Given the description of an element on the screen output the (x, y) to click on. 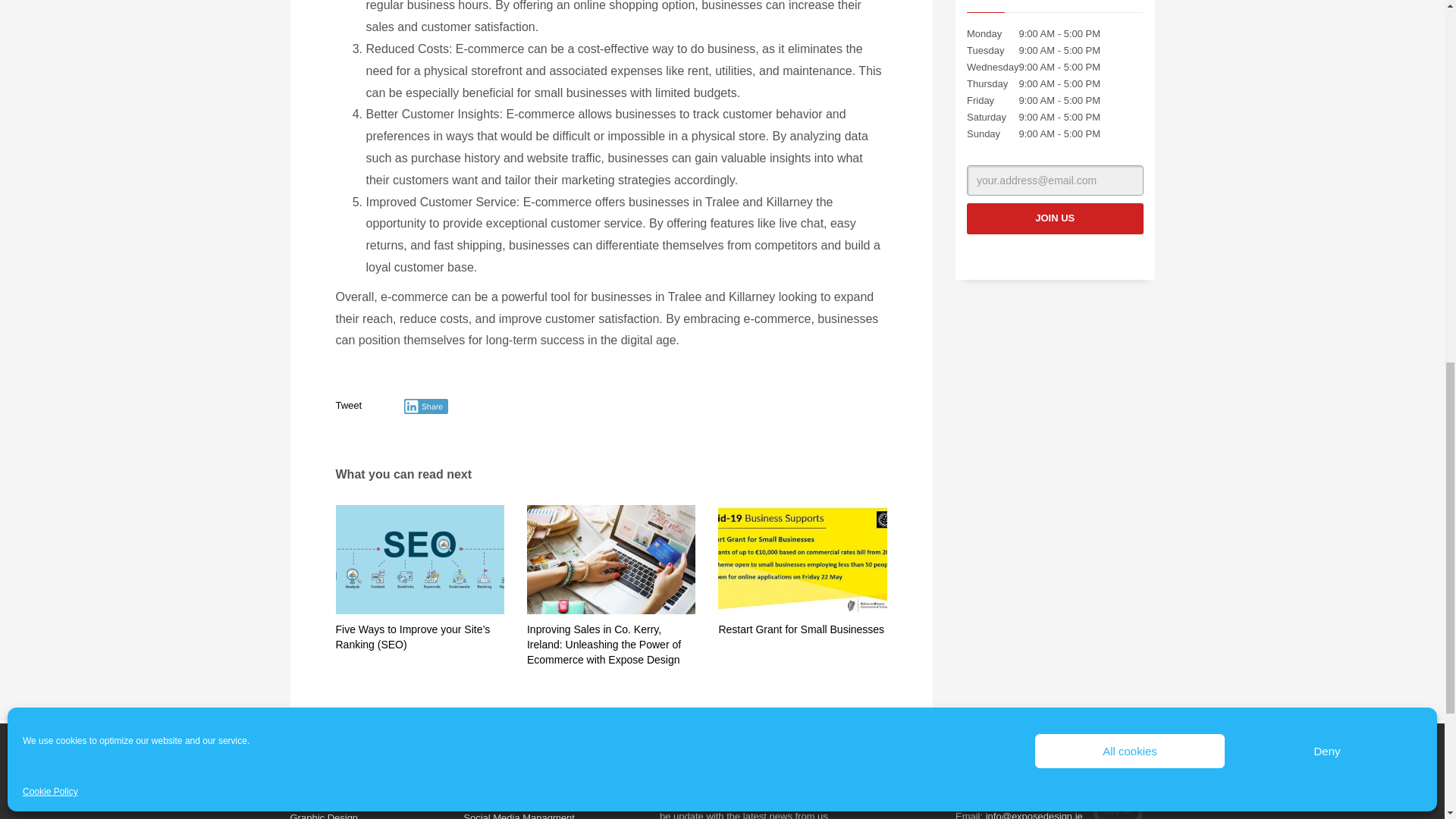
SEO-Pillar-Post-Art- (418, 559)
website design and development tralee kerry (611, 559)
JOIN US (1054, 218)
